Given the description of an element on the screen output the (x, y) to click on. 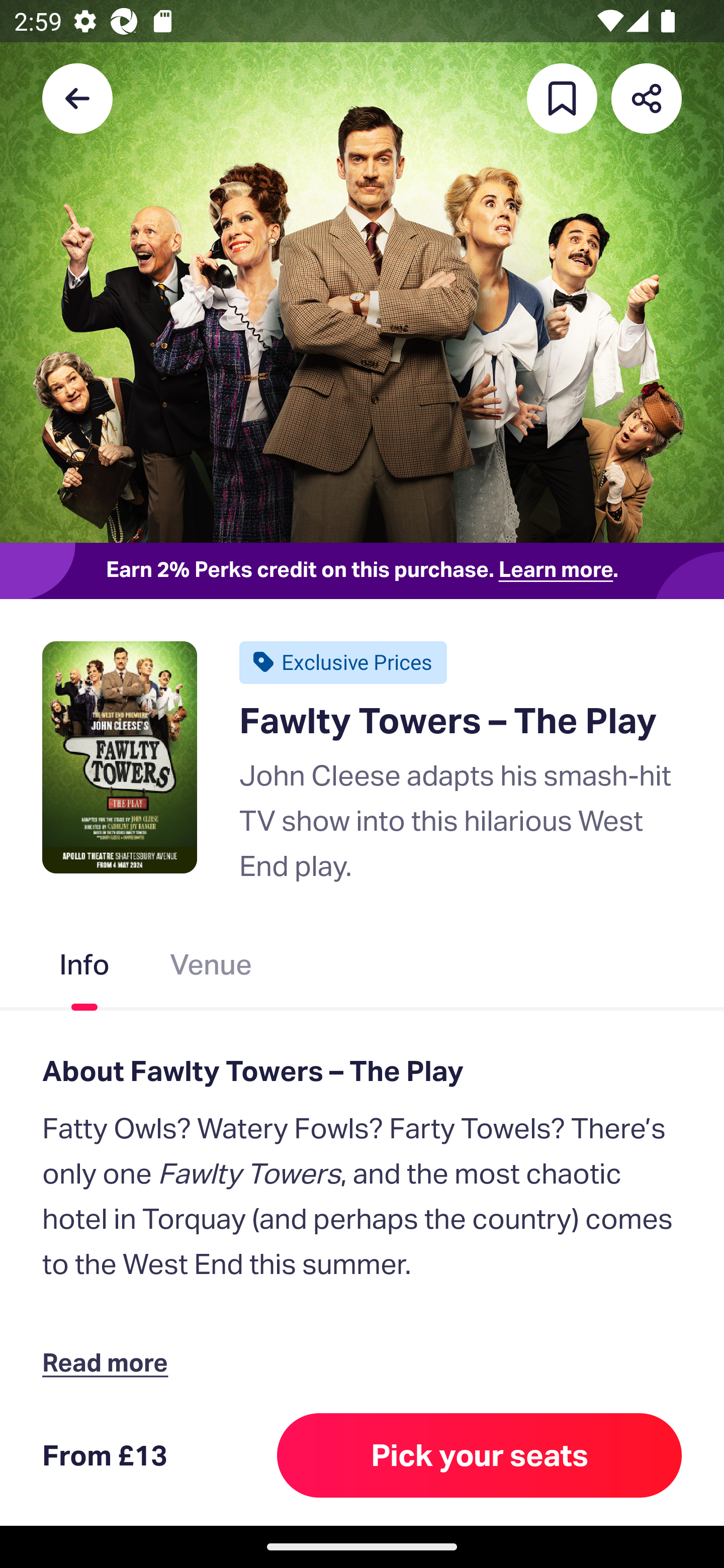
Earn 2% Perks credit on this purchase. Learn more. (362, 570)
Venue (210, 968)
About Fawlty Towers – The Play (361, 1070)
Read more (109, 1361)
Pick your seats (479, 1454)
